Given the description of an element on the screen output the (x, y) to click on. 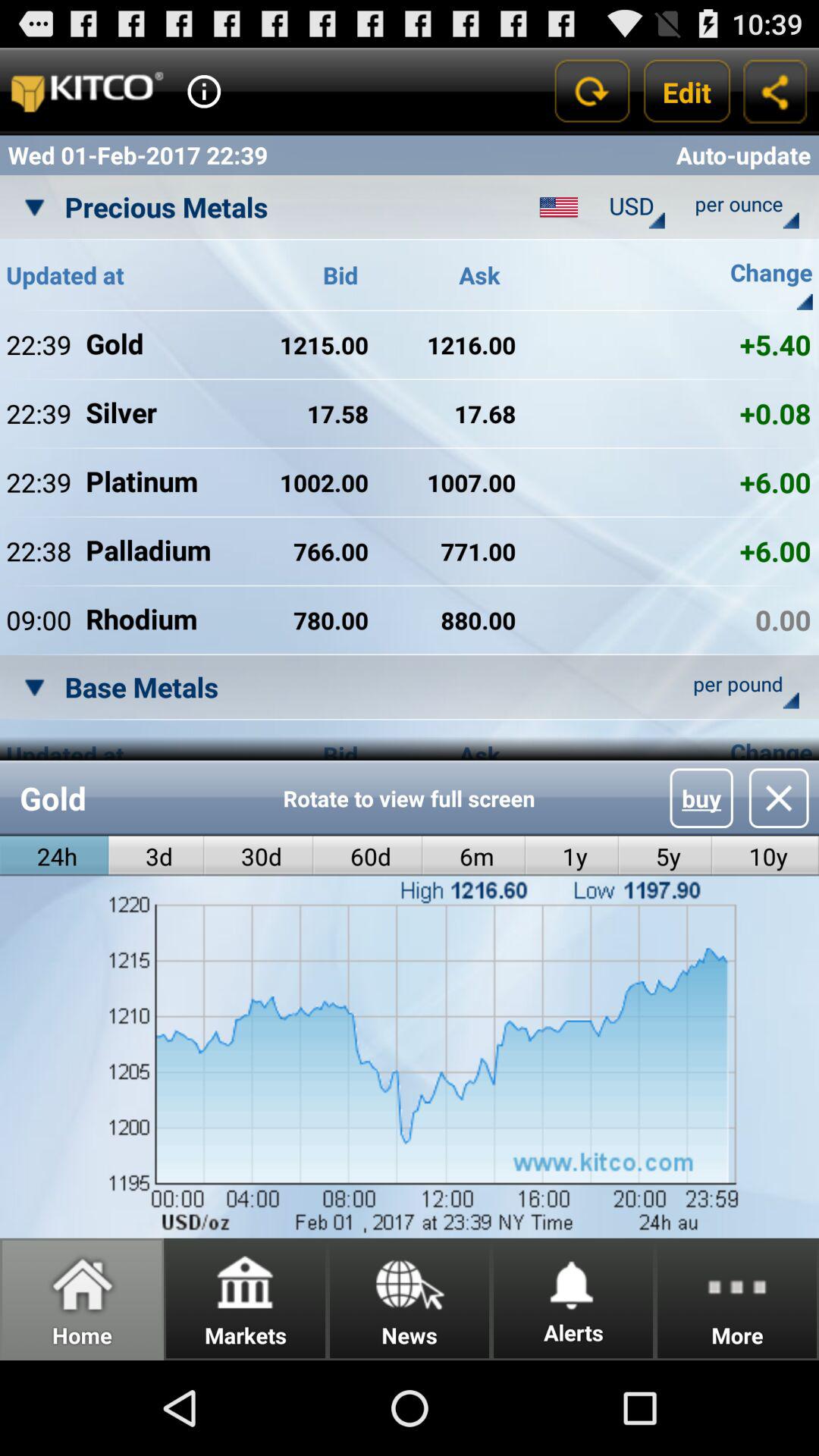
turn off the icon next to 1y radio button (665, 856)
